Given the description of an element on the screen output the (x, y) to click on. 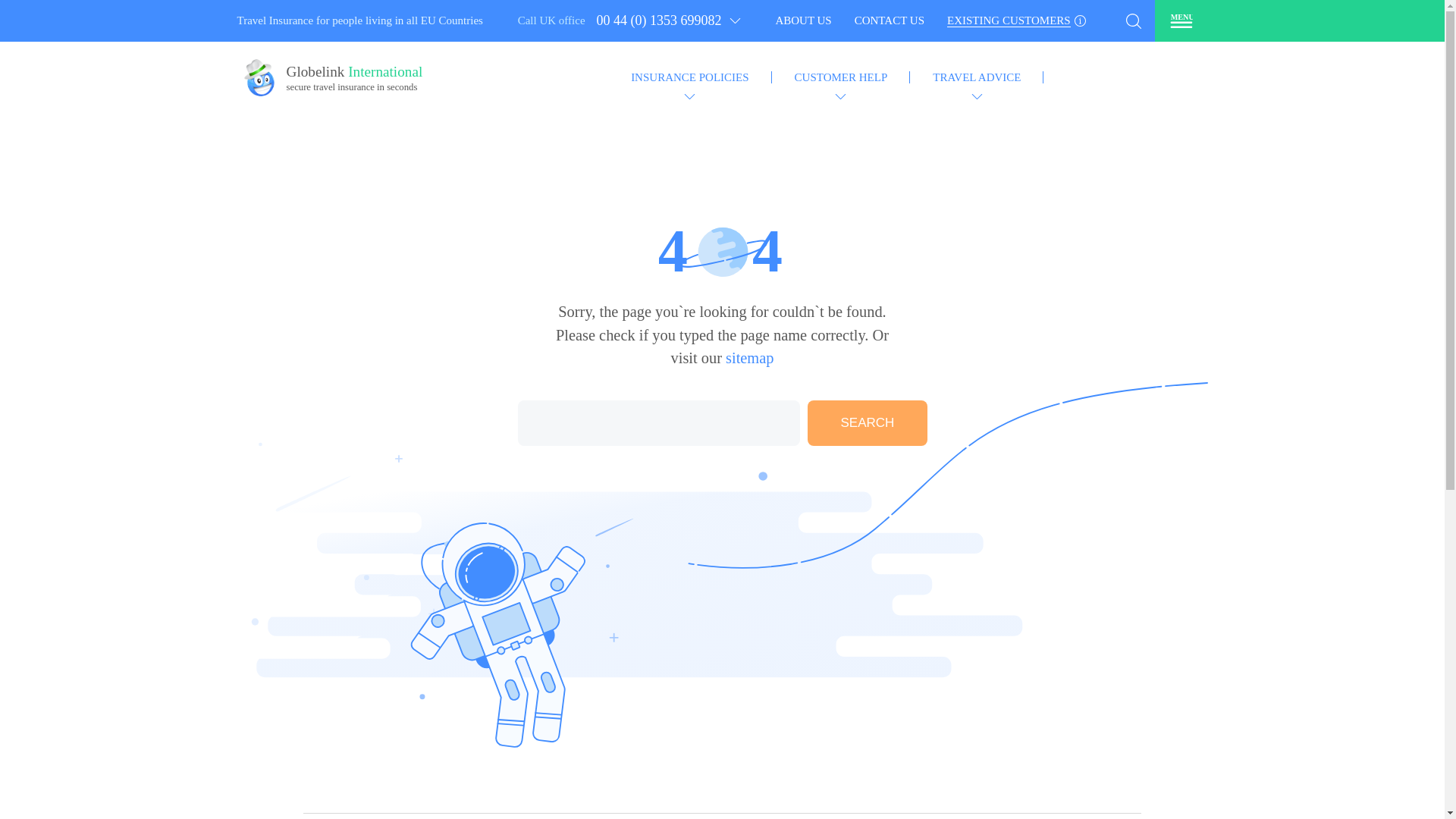
MENU (1180, 20)
EXISTING CUSTOMERS (1016, 20)
CONTACT US (355, 81)
ABOUT US (889, 20)
SEARCH (722, 252)
